Given the description of an element on the screen output the (x, y) to click on. 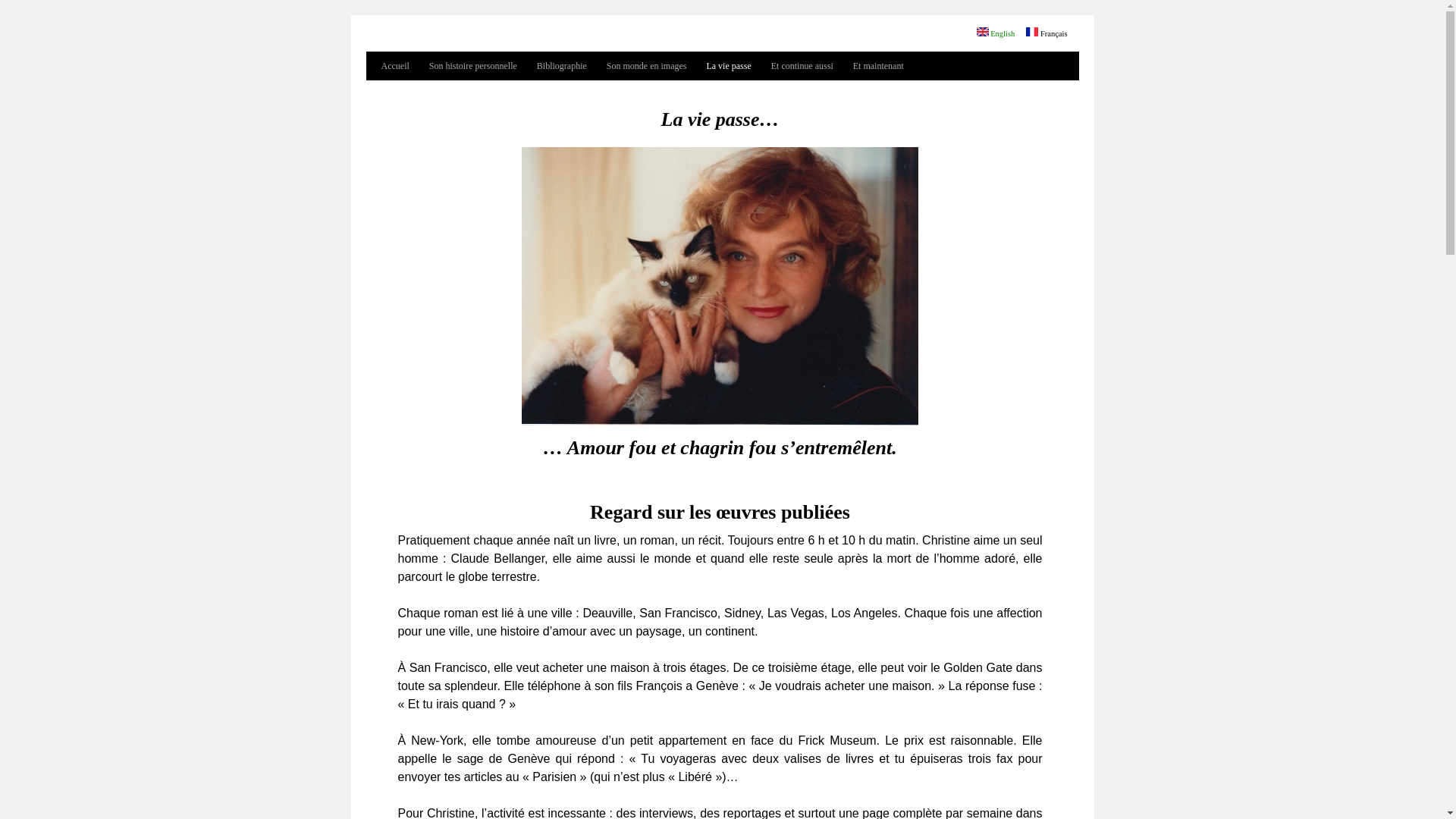
Son monde en images Element type: text (646, 65)
Accueil Element type: text (394, 65)
Son histoire personnelle Element type: text (473, 65)
Bibliographie Element type: text (561, 65)
La vie passe Element type: text (727, 65)
English Element type: hover (982, 31)
Et maintenant Element type: text (878, 65)
English Element type: text (995, 33)
Jump to navigation Element type: text (722, 17)
Et continue aussi Element type: text (802, 65)
